Given the description of an element on the screen output the (x, y) to click on. 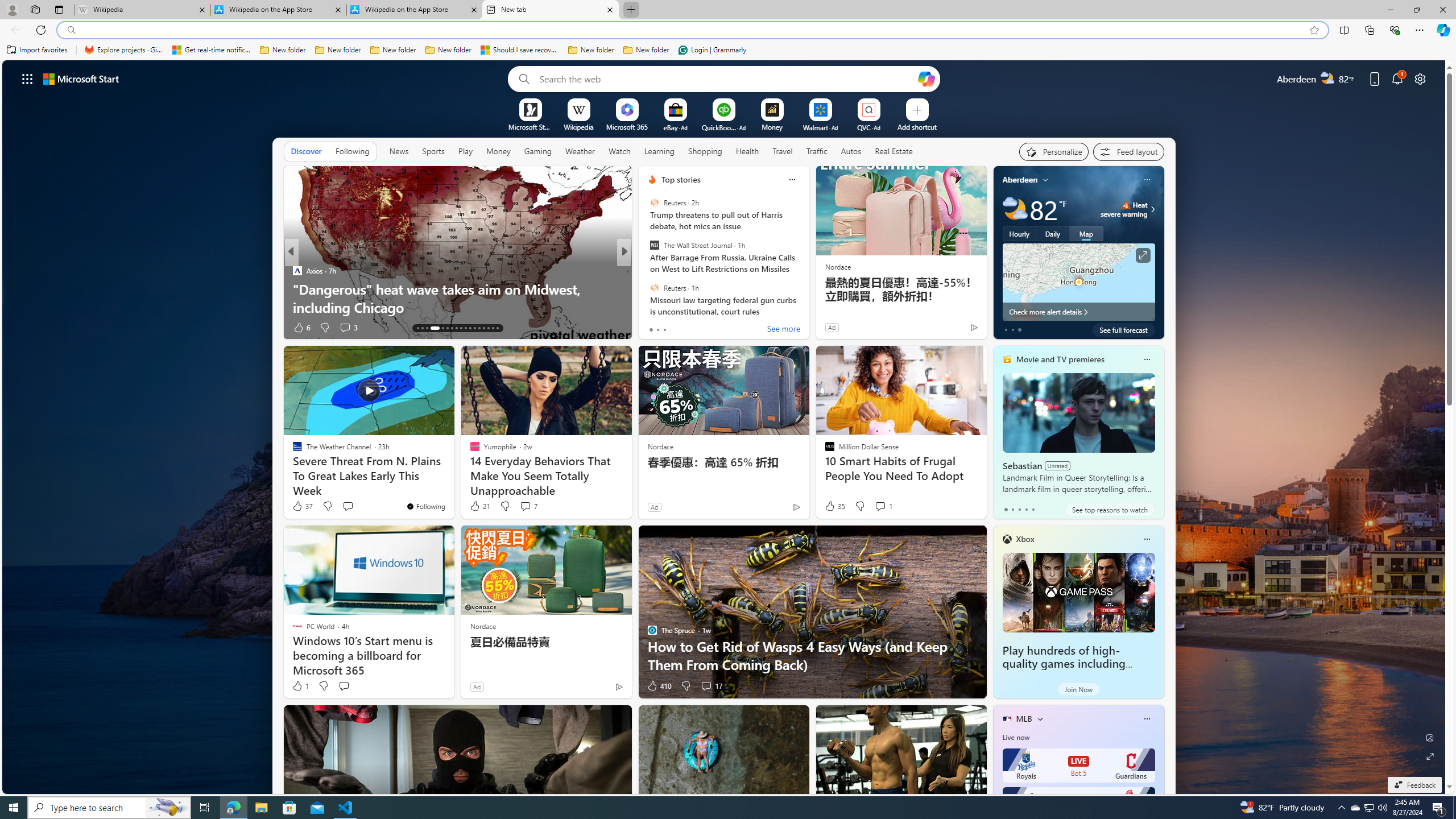
tab-4 (1032, 509)
